Given the description of an element on the screen output the (x, y) to click on. 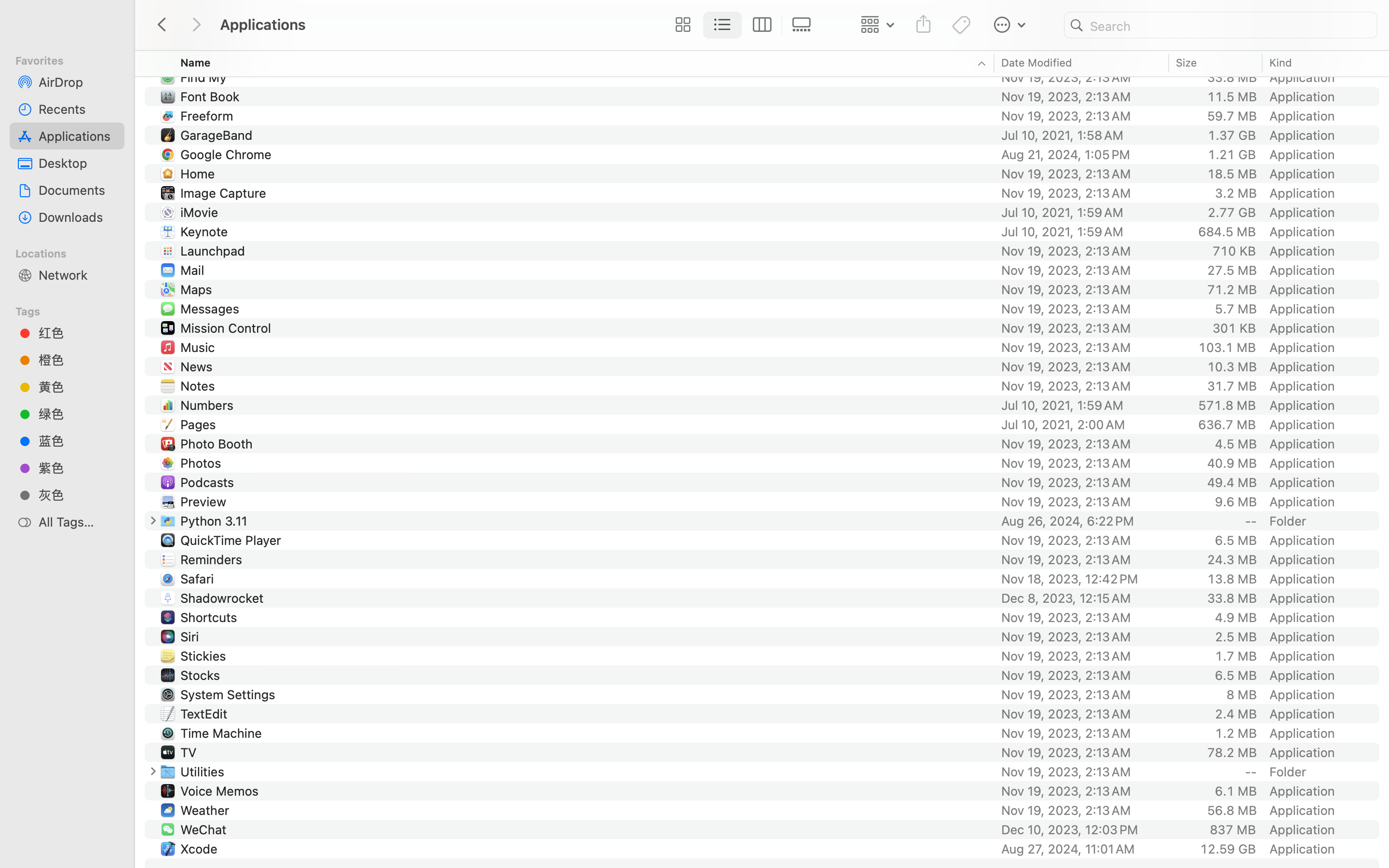
78.2 MB Element type: AXStaticText (1231, 751)
紫色 Element type: AXStaticText (77, 467)
4.5 MB Element type: AXStaticText (1235, 443)
红色 Element type: AXStaticText (77, 332)
Nov 19, 2023, 2:13 AM Element type: AXStaticText (1081, 38)
